Given the description of an element on the screen output the (x, y) to click on. 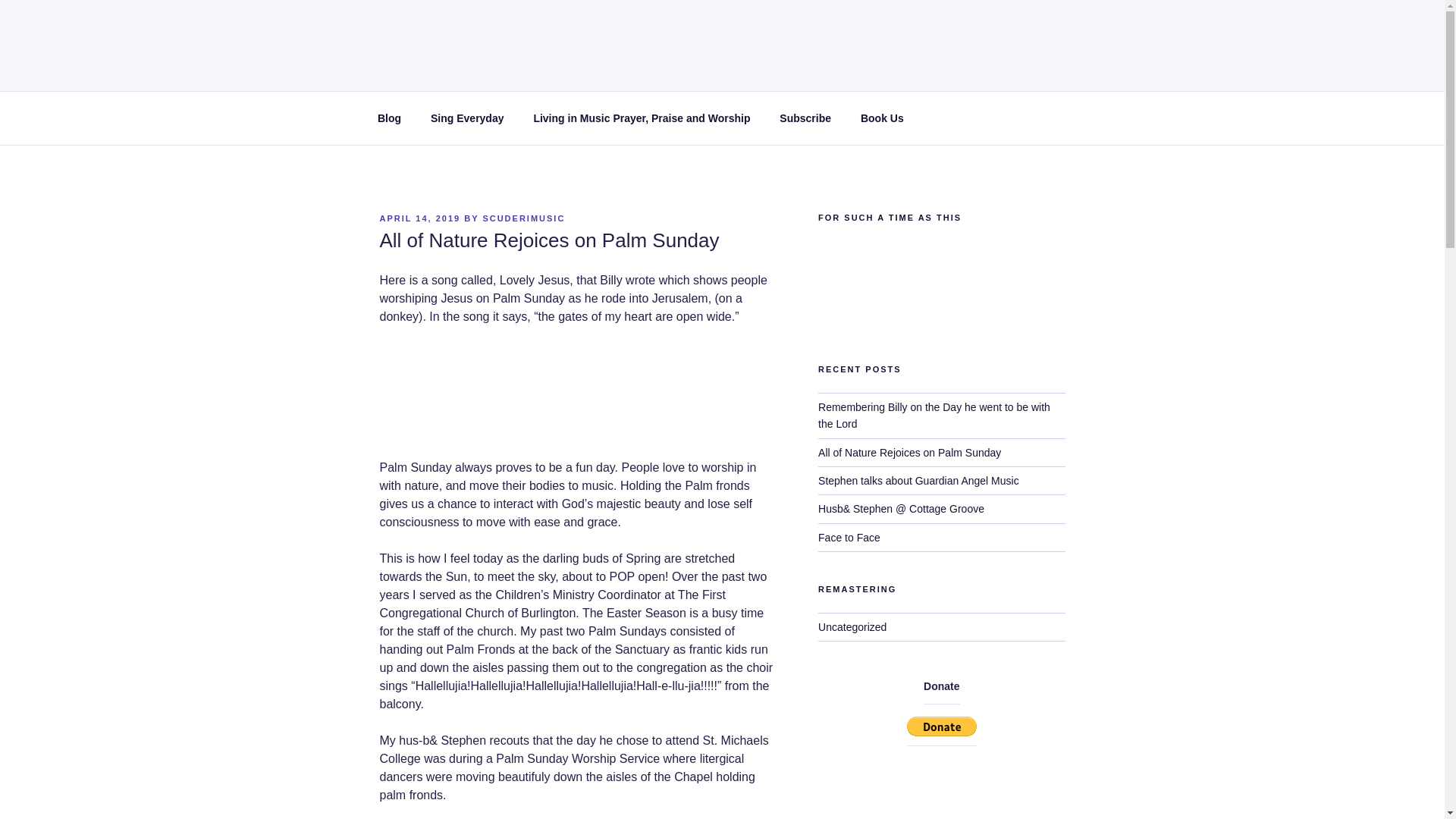
All of Nature Rejoices on Palm Sunday (909, 452)
Remembering Billy on the Day he went to be with the Lord (933, 415)
Face to Face (849, 537)
SCUDERIMUSIC (522, 217)
Uncategorized (852, 626)
Subscribe (805, 118)
Blog (388, 118)
Living in Music Prayer, Praise and Worship (640, 118)
Stephen talks about Guardian Angel Music (918, 480)
Sing Everyday (466, 118)
APRIL 14, 2019 (419, 217)
Book Us (882, 118)
